Given the description of an element on the screen output the (x, y) to click on. 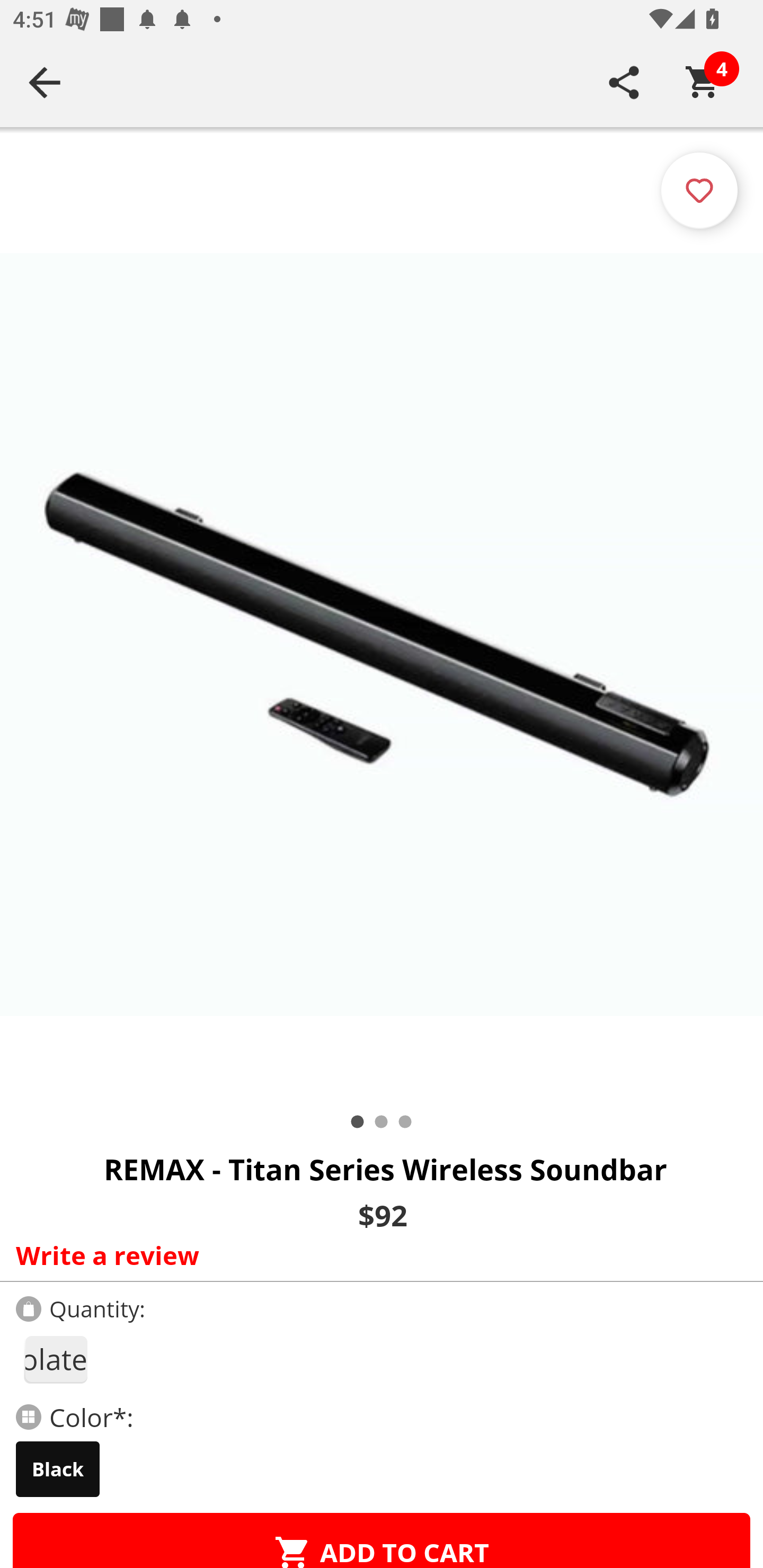
Navigate up (44, 82)
SHARE (623, 82)
Cart (703, 81)
Write a review (377, 1255)
1chocolate (55, 1358)
Black (57, 1468)
ADD TO CART (381, 1540)
